Given the description of an element on the screen output the (x, y) to click on. 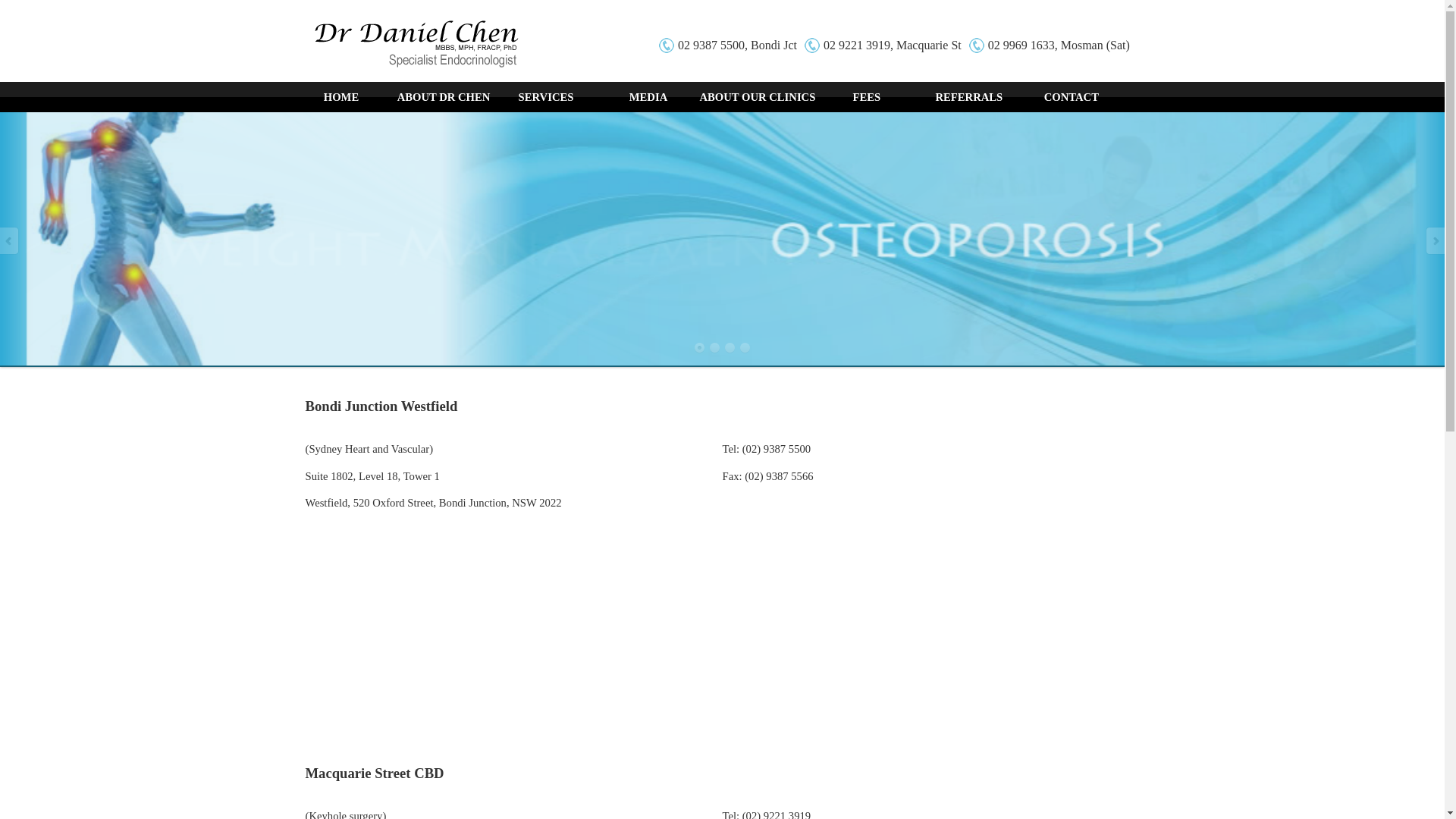
4 Element type: text (745, 347)
FEES Element type: text (866, 96)
3 Element type: text (729, 347)
Next Element type: text (1434, 240)
Prev Element type: text (9, 240)
HOME Element type: text (340, 96)
ABOUT OUR CLINICS Element type: text (757, 96)
SERVICES Element type: text (545, 96)
REFERRALS Element type: text (968, 96)
CONTACT Element type: text (1070, 96)
1 Element type: text (699, 347)
2 Element type: text (714, 347)
MEDIA Element type: text (648, 96)
ABOUT DR CHEN Element type: text (443, 96)
